Given the description of an element on the screen output the (x, y) to click on. 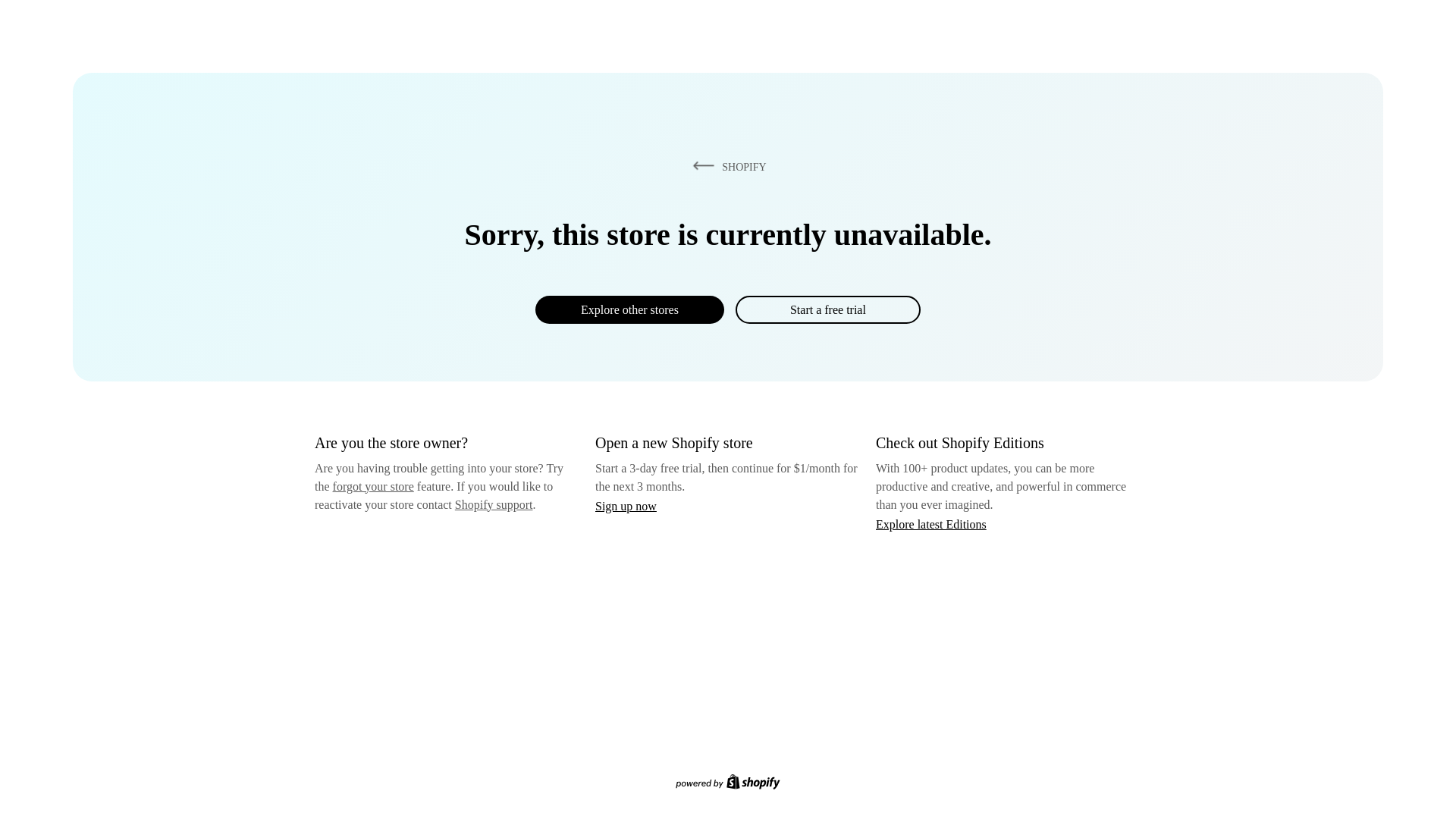
Explore other stores (629, 309)
Sign up now (625, 505)
Explore latest Editions (931, 523)
SHOPIFY (726, 166)
forgot your store (373, 486)
Shopify support (493, 504)
Start a free trial (827, 309)
